Given the description of an element on the screen output the (x, y) to click on. 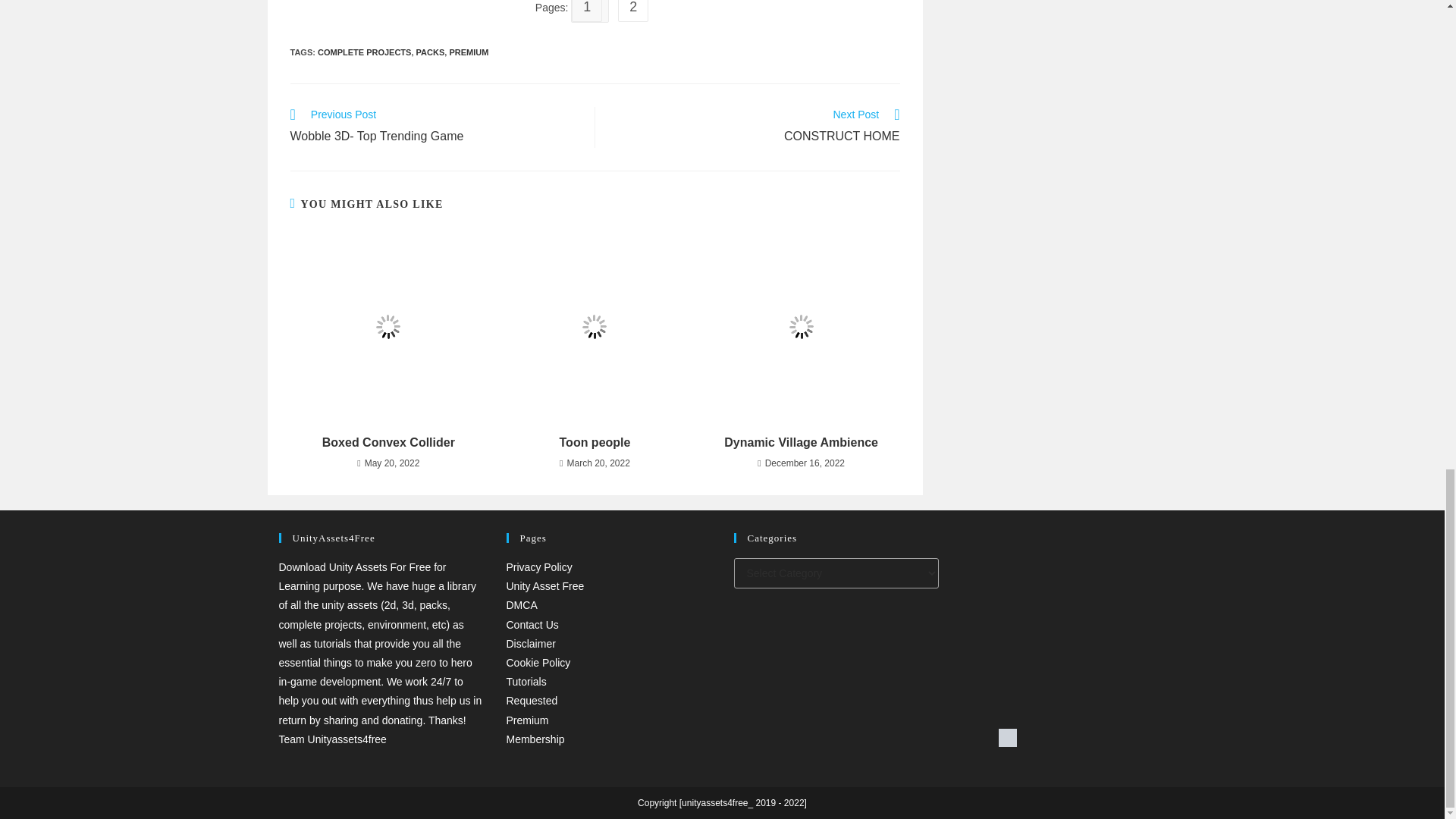
PREMIUM (467, 51)
Dynamic Village Ambience (801, 442)
PACKS (433, 127)
2 (430, 51)
COMPLETE PROJECTS (754, 127)
Boxed Convex Collider (635, 7)
Toon people (363, 51)
